Given the description of an element on the screen output the (x, y) to click on. 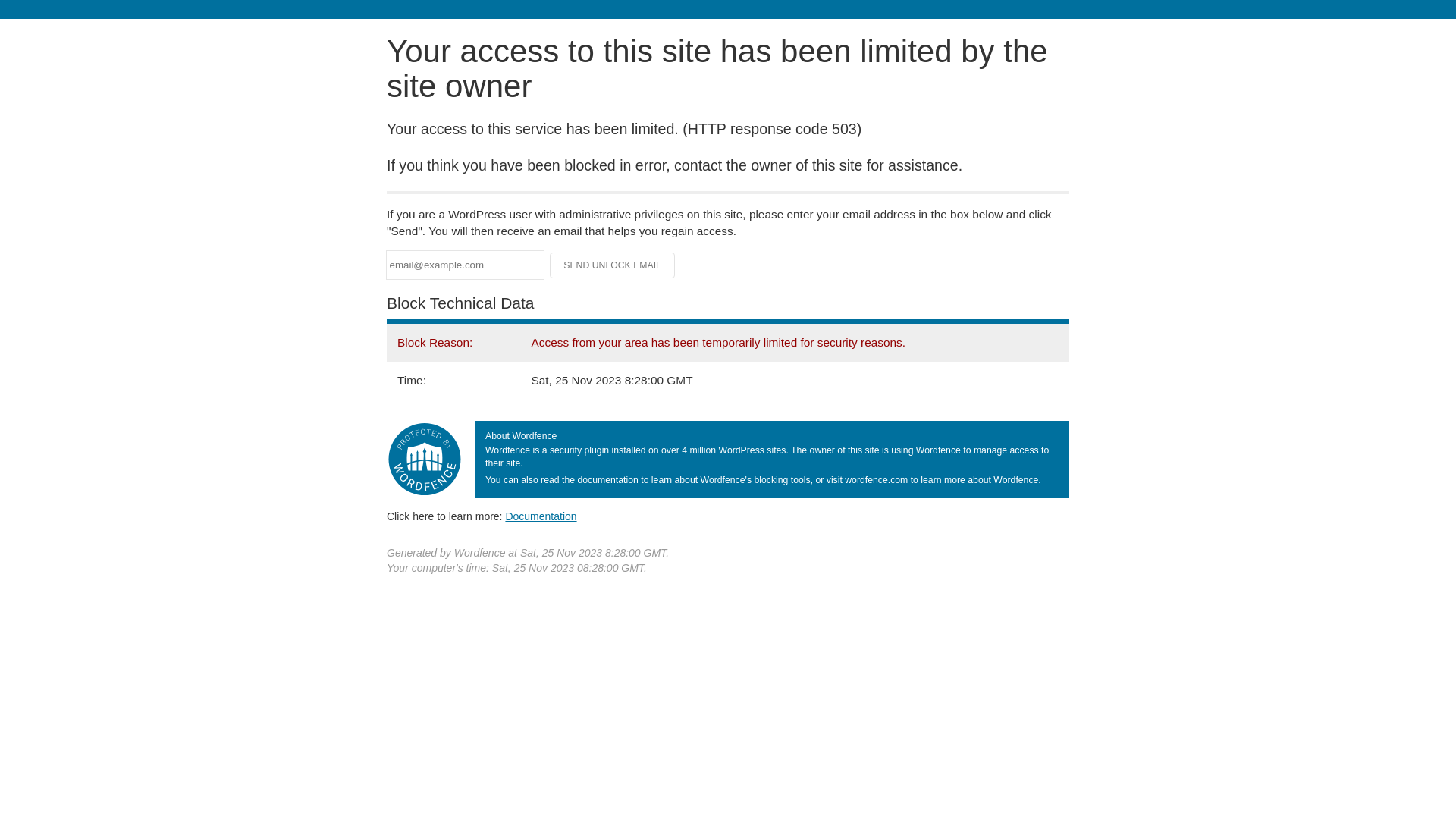
Send Unlock Email Element type: text (612, 265)
Documentation Element type: text (540, 516)
